Given the description of an element on the screen output the (x, y) to click on. 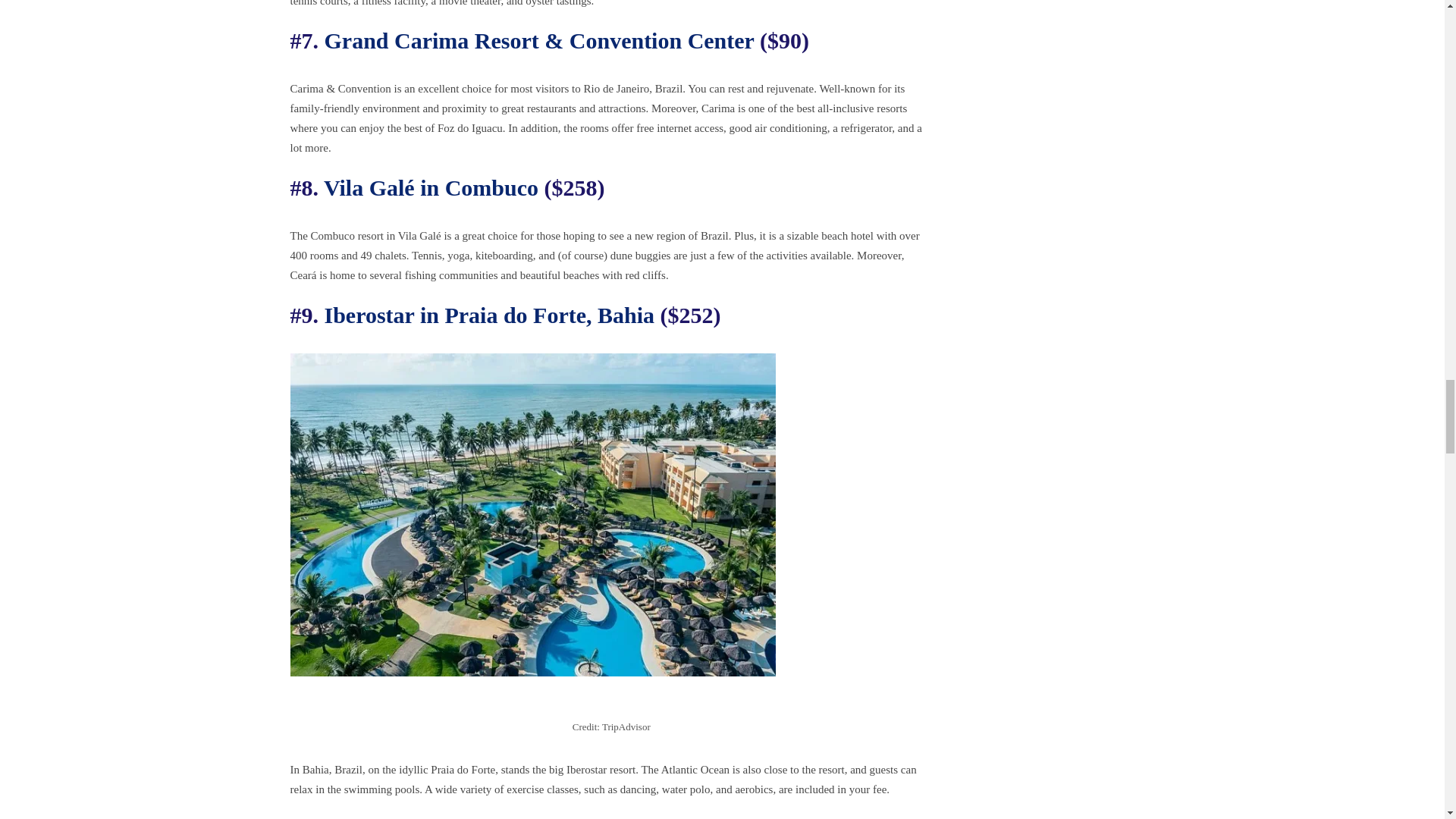
Iberostar in Praia do Forte, Bahia (489, 314)
